Given the description of an element on the screen output the (x, y) to click on. 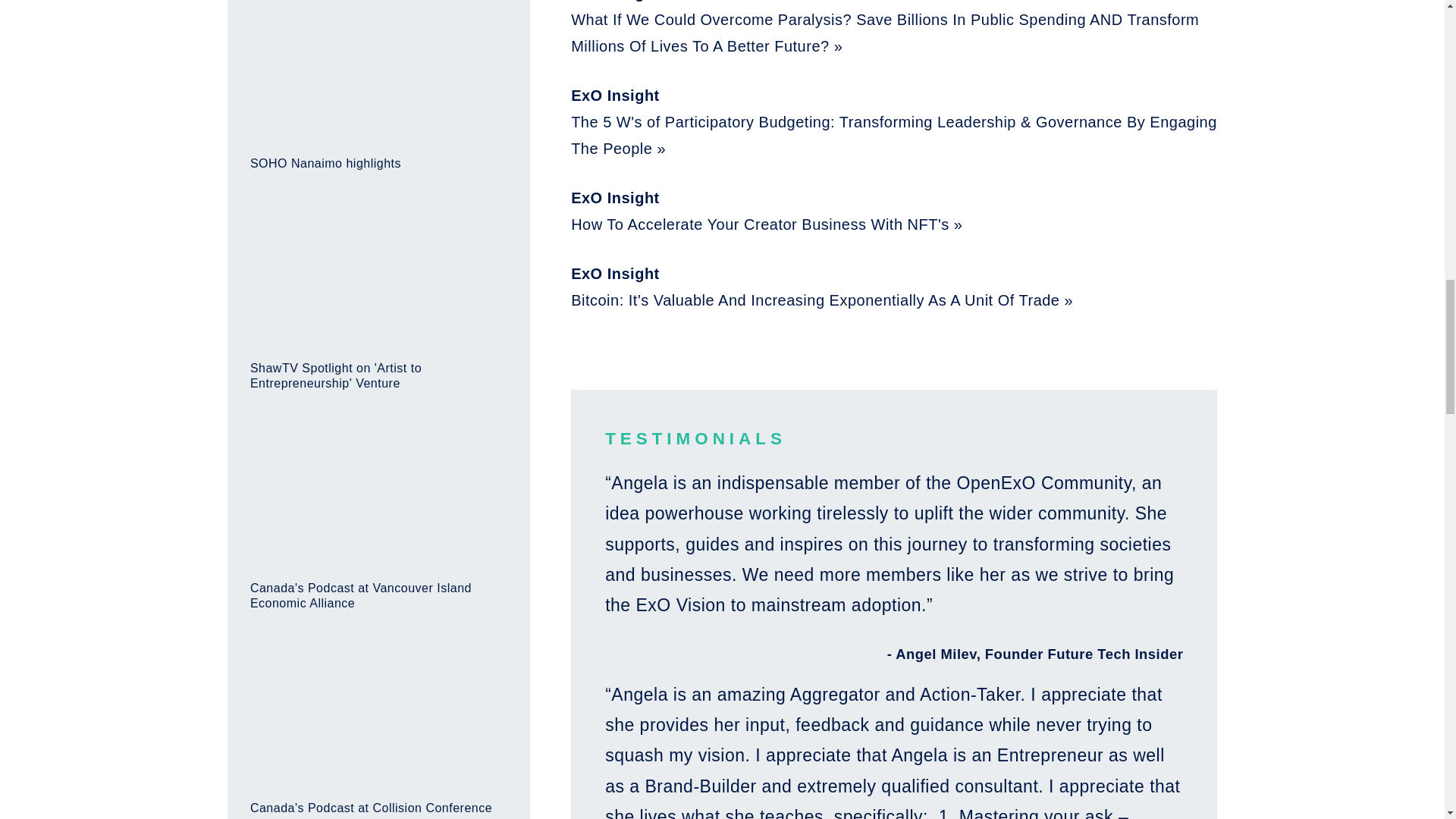
ShawTV Spotlight on 'Artist to Entrepreneurship' Venture (378, 296)
Canada's Podcast at Collision Conference (378, 728)
SOHO Nanaimo highlights (378, 85)
Canada's Podcast at Vancouver Island Economic Alliance (378, 515)
